Given the description of an element on the screen output the (x, y) to click on. 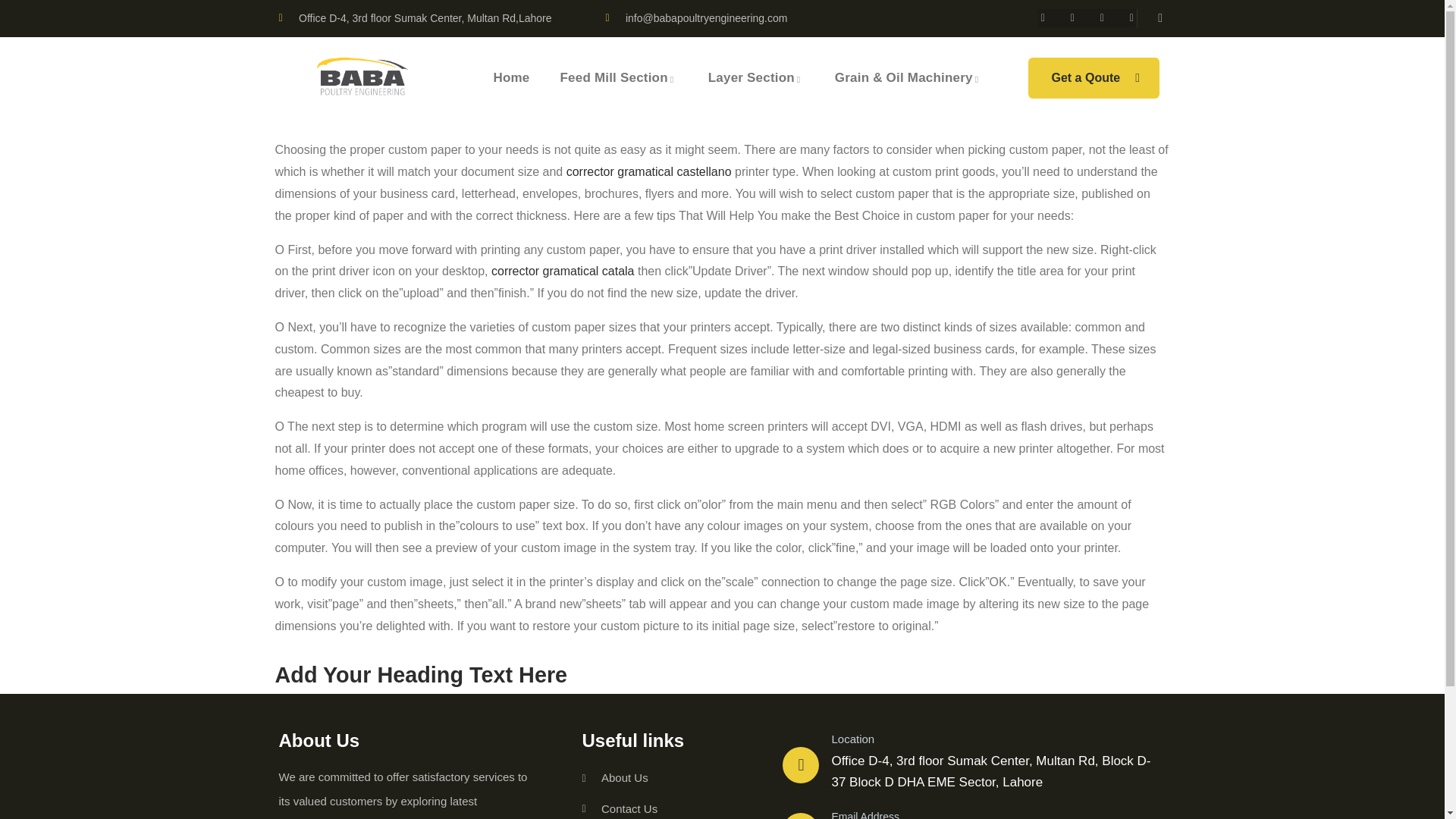
Feed Mill Section (618, 78)
Home (511, 78)
Office D-4, 3rd floor Sumak Center, Multan Rd,Lahore (415, 18)
Layer Section (756, 78)
Home (367, 77)
